Given the description of an element on the screen output the (x, y) to click on. 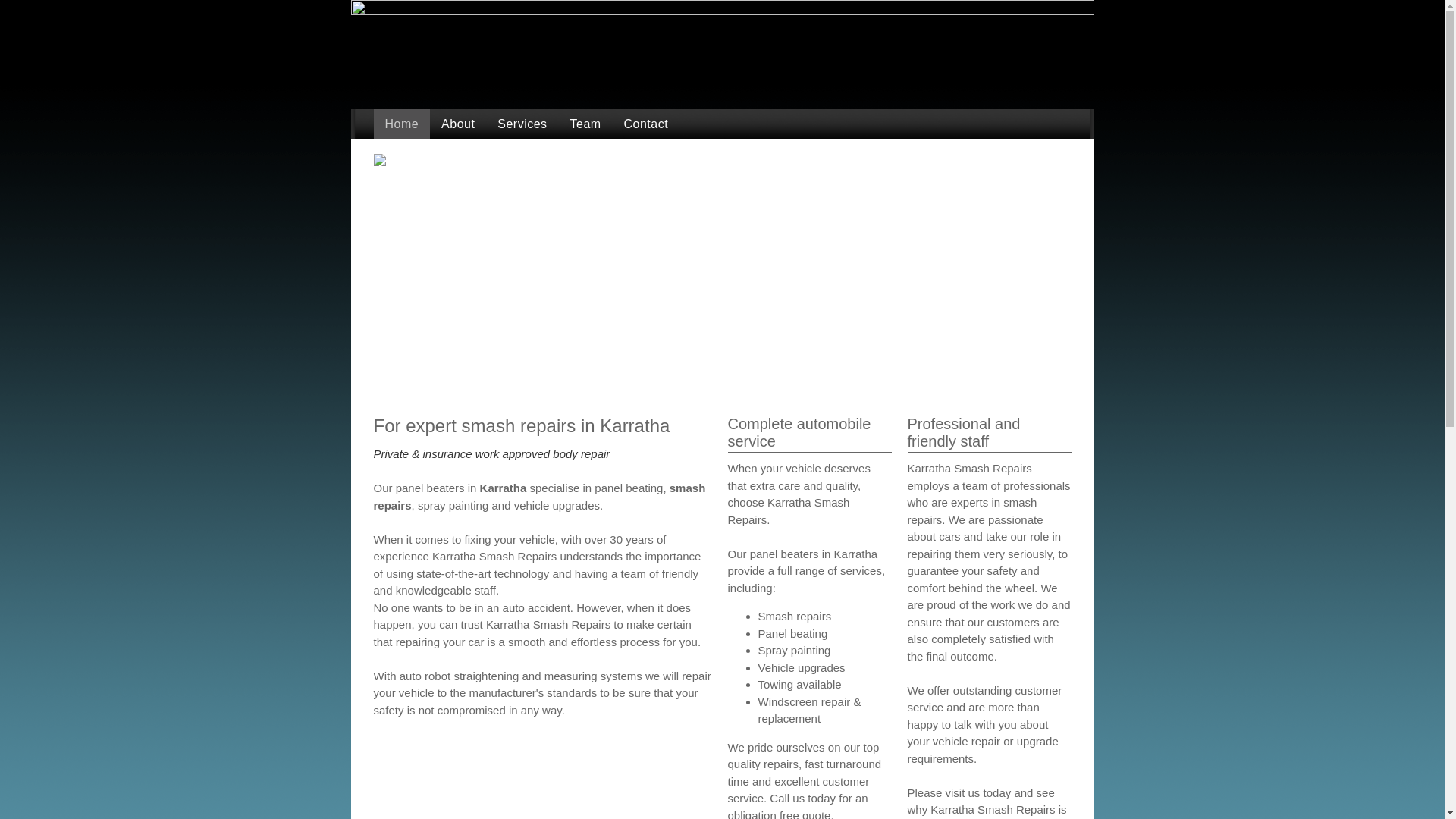
Home Element type: text (401, 124)
Contact Element type: text (646, 124)
Team Element type: text (585, 124)
Services Element type: text (522, 124)
About Element type: text (457, 124)
